Given the description of an element on the screen output the (x, y) to click on. 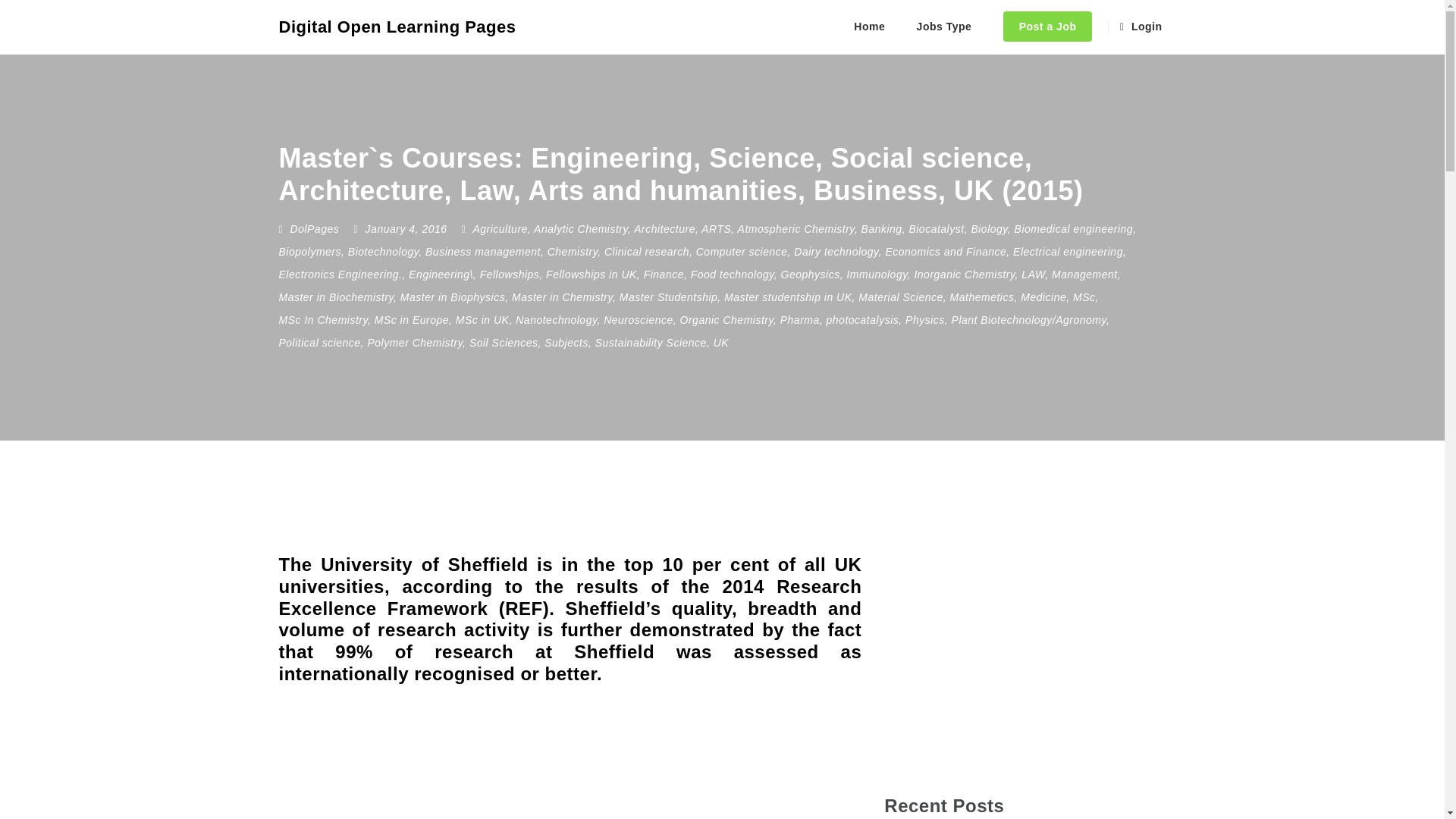
Biomedical engineering (1074, 228)
Fellowships (510, 274)
Architecture (664, 228)
Computer science (741, 251)
Analytic Chemistry (580, 228)
Biocatalyst (935, 228)
Economics and Finance (945, 251)
Chemistry (571, 251)
Business management (482, 251)
Jobs Type (946, 27)
Posts by DolPages (314, 228)
Digital Open Learning Pages (397, 27)
Agriculture (499, 228)
Electrical engineering (1067, 251)
Biotechnology (383, 251)
